Given the description of an element on the screen output the (x, y) to click on. 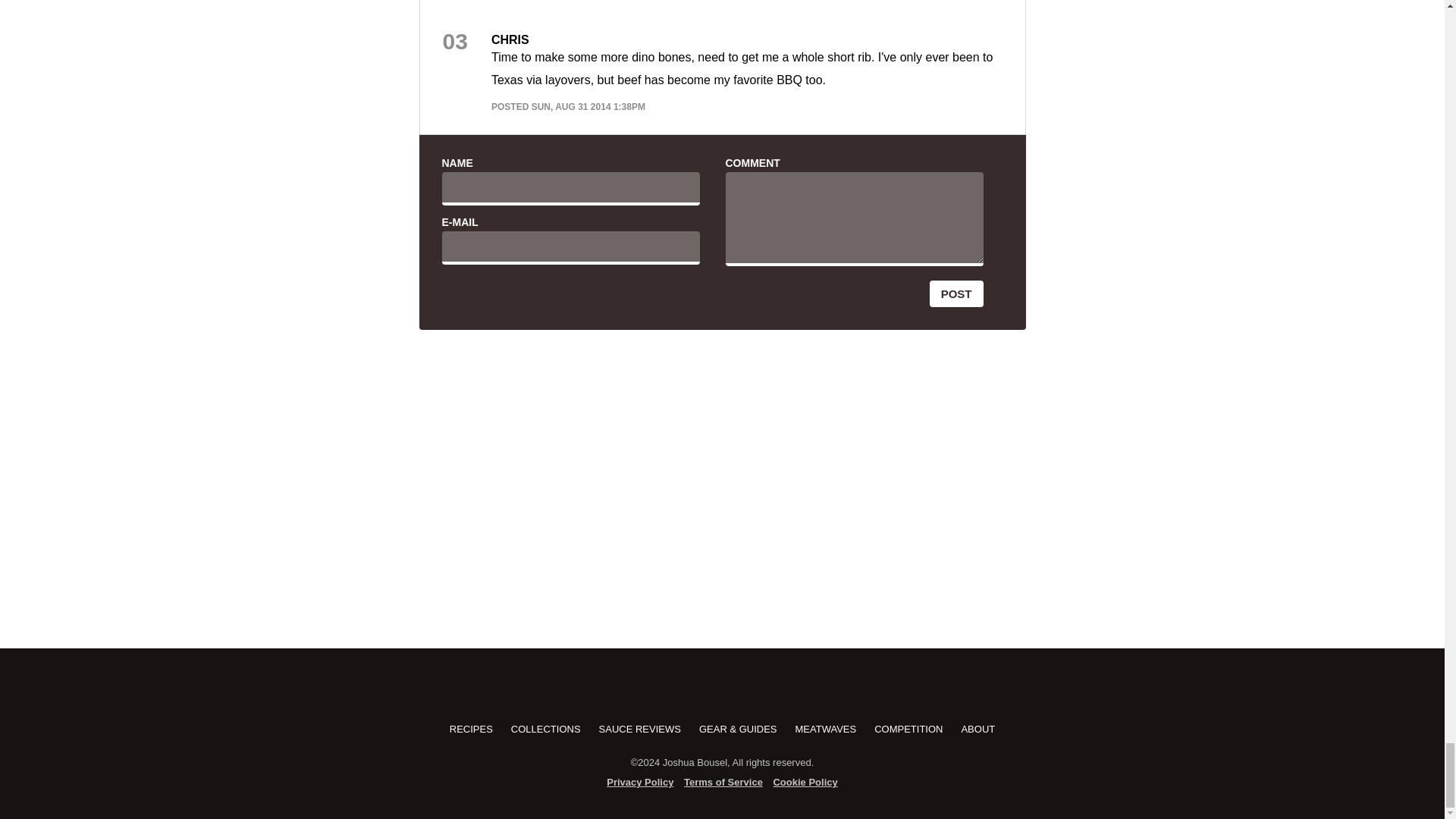
SAUCE REVIEWS (639, 728)
COLLECTIONS (545, 728)
COMPETITION (908, 728)
MEATWAVES (825, 728)
POST (957, 293)
RECIPES (471, 728)
